Given the description of an element on the screen output the (x, y) to click on. 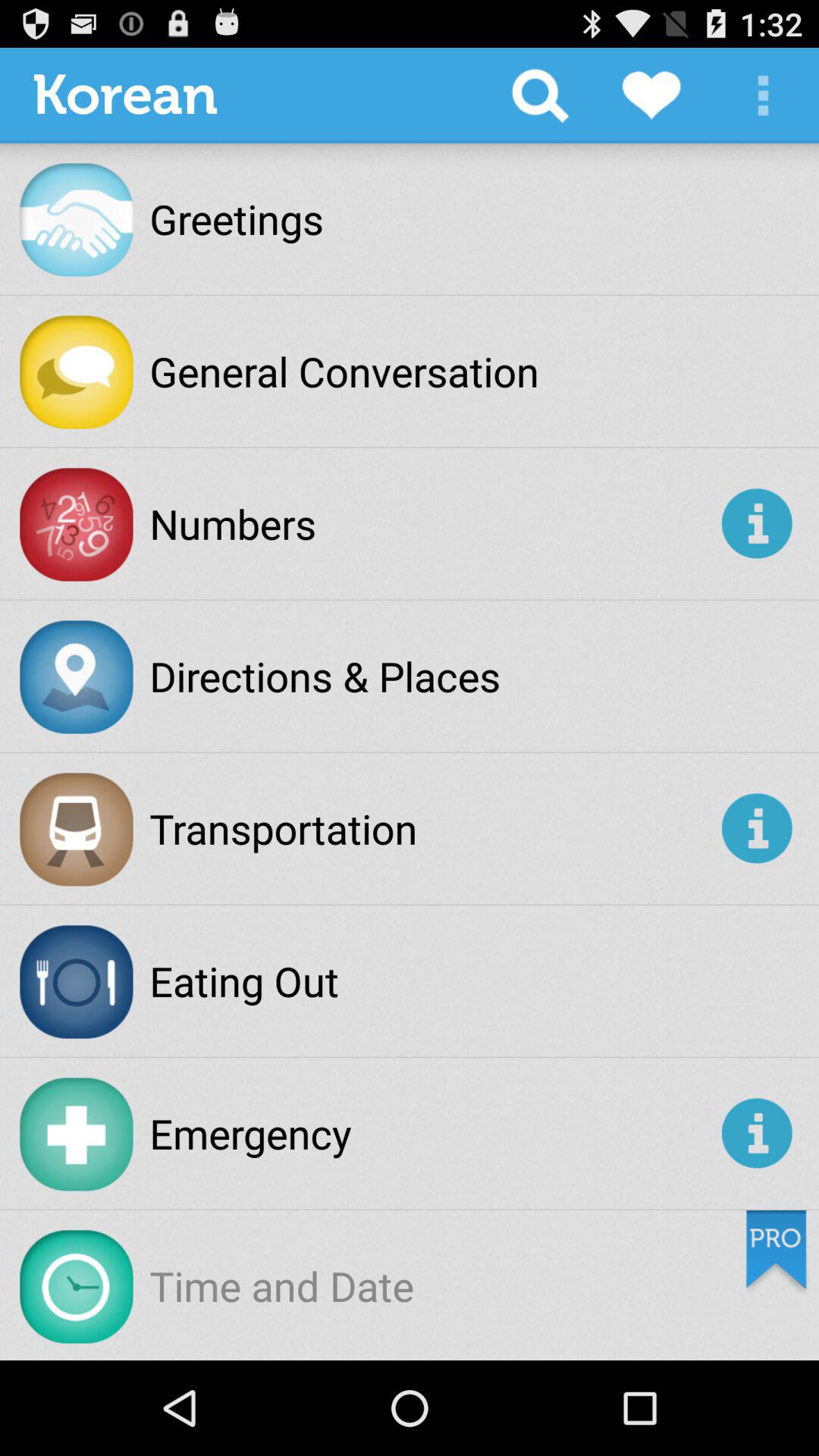
jump to the numbers icon (432, 523)
